Given the description of an element on the screen output the (x, y) to click on. 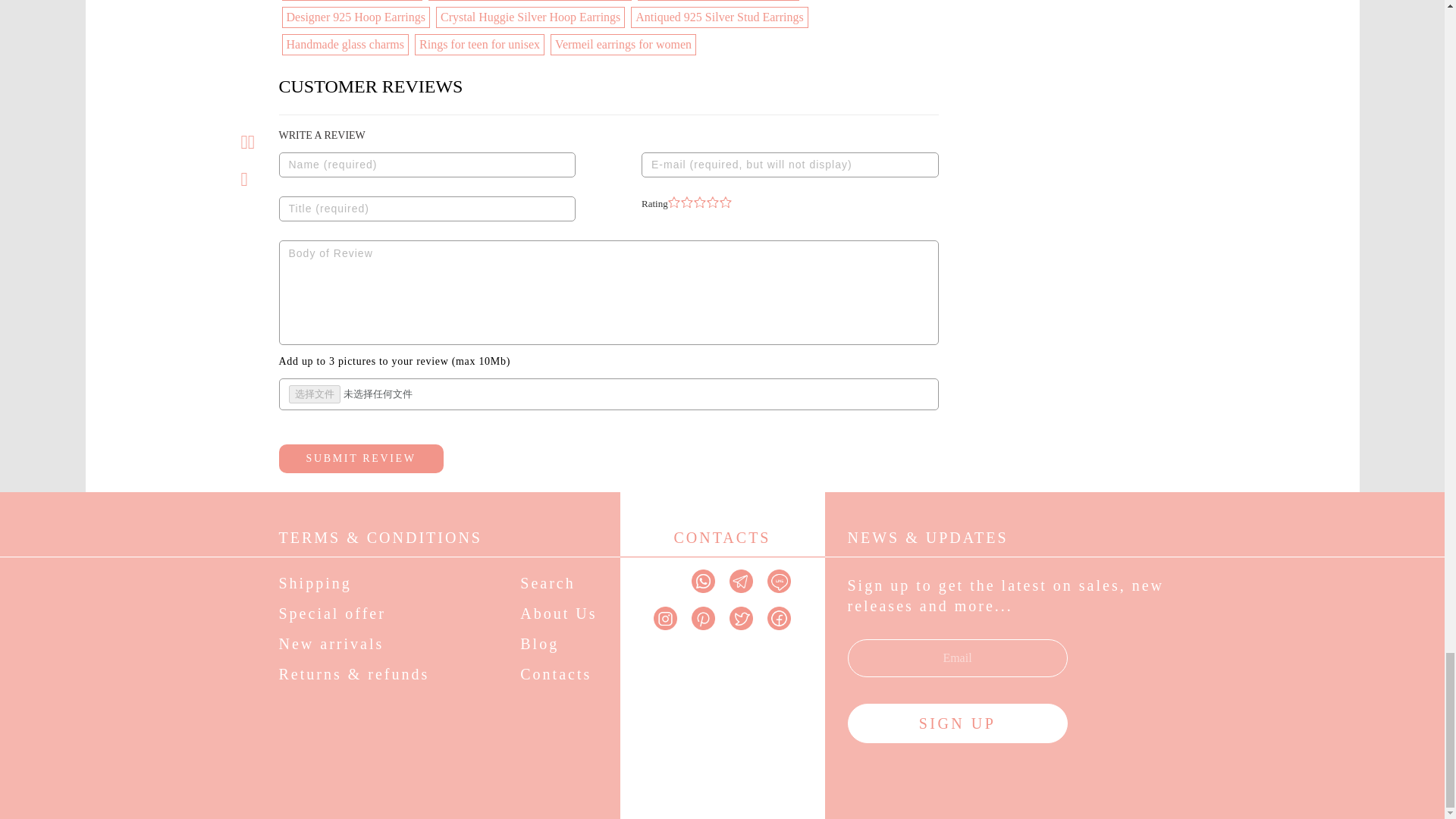
Sign Up (957, 722)
